Given the description of an element on the screen output the (x, y) to click on. 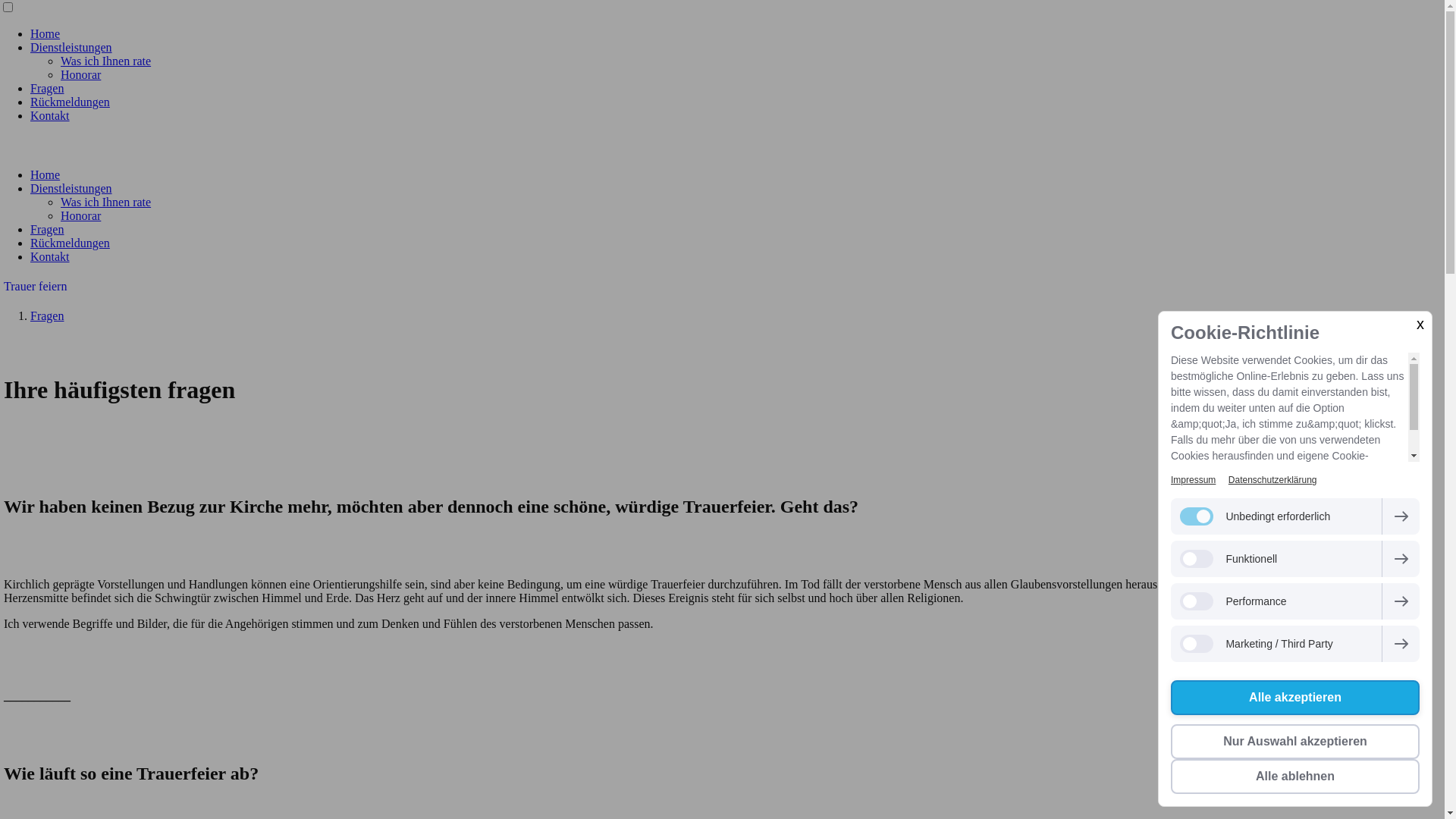
Impressum Element type: text (1192, 479)
Honorar Element type: text (80, 215)
Home Element type: text (44, 33)
Was ich Ihnen rate Element type: text (105, 201)
Fragen Element type: text (46, 315)
Trauer feiern Element type: text (721, 286)
Nur Auswahl akzeptieren Element type: text (1294, 741)
Home Element type: text (44, 174)
Alle akzeptieren Element type: text (1294, 697)
Honorar Element type: text (80, 74)
Fragen Element type: text (46, 87)
Dienstleistungen Element type: text (71, 46)
Dienstleistungen Element type: text (71, 188)
Alle ablehnen Element type: text (1294, 776)
Fragen Element type: text (46, 228)
Kontakt Element type: text (49, 115)
Was ich Ihnen rate Element type: text (105, 60)
Kontakt Element type: text (49, 256)
